Given the description of an element on the screen output the (x, y) to click on. 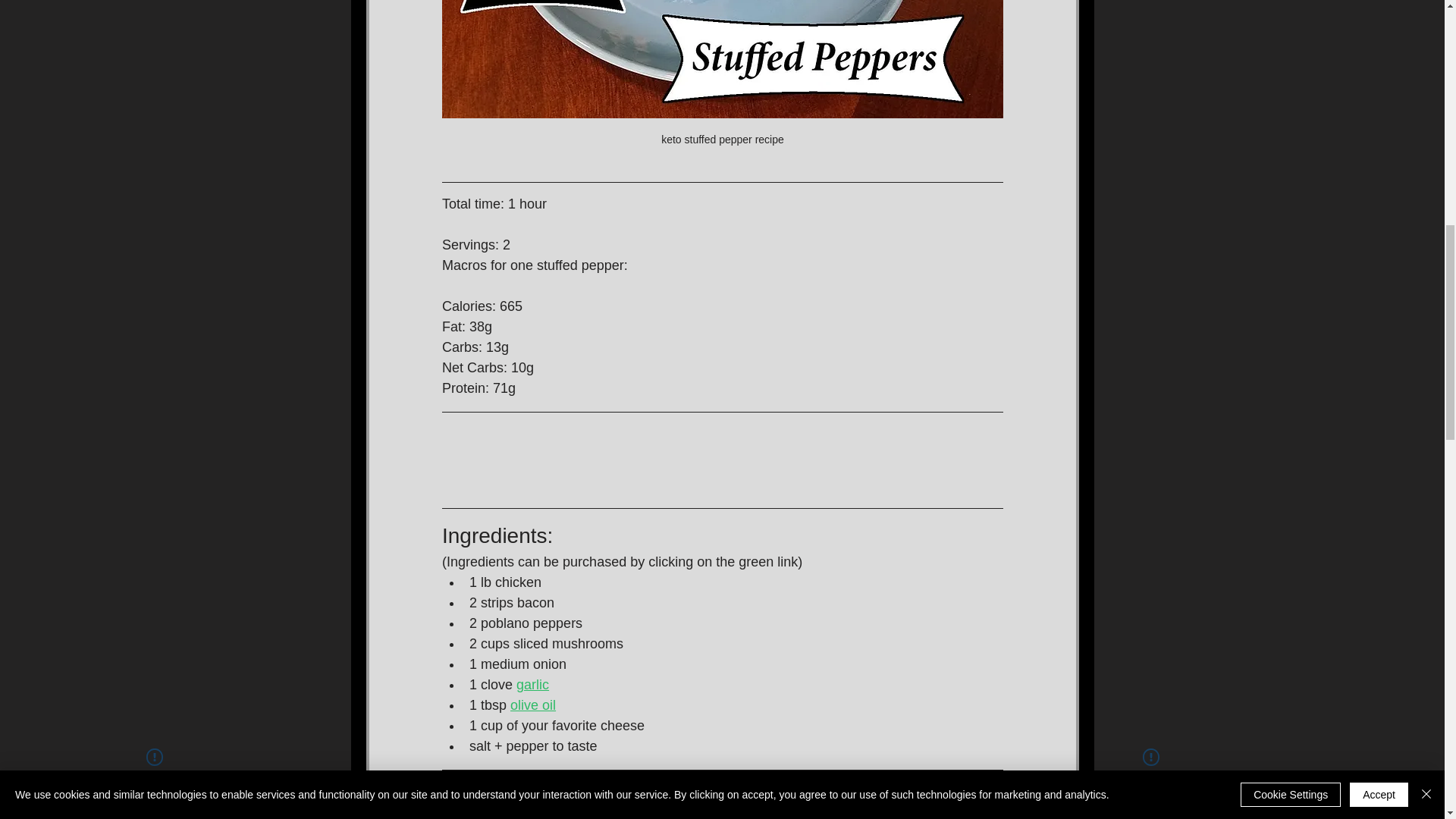
keto stuffed pepper recipe (722, 80)
Affiliates (915, 791)
remote content (722, 459)
garlic (532, 684)
olive oil (533, 704)
